Given the description of an element on the screen output the (x, y) to click on. 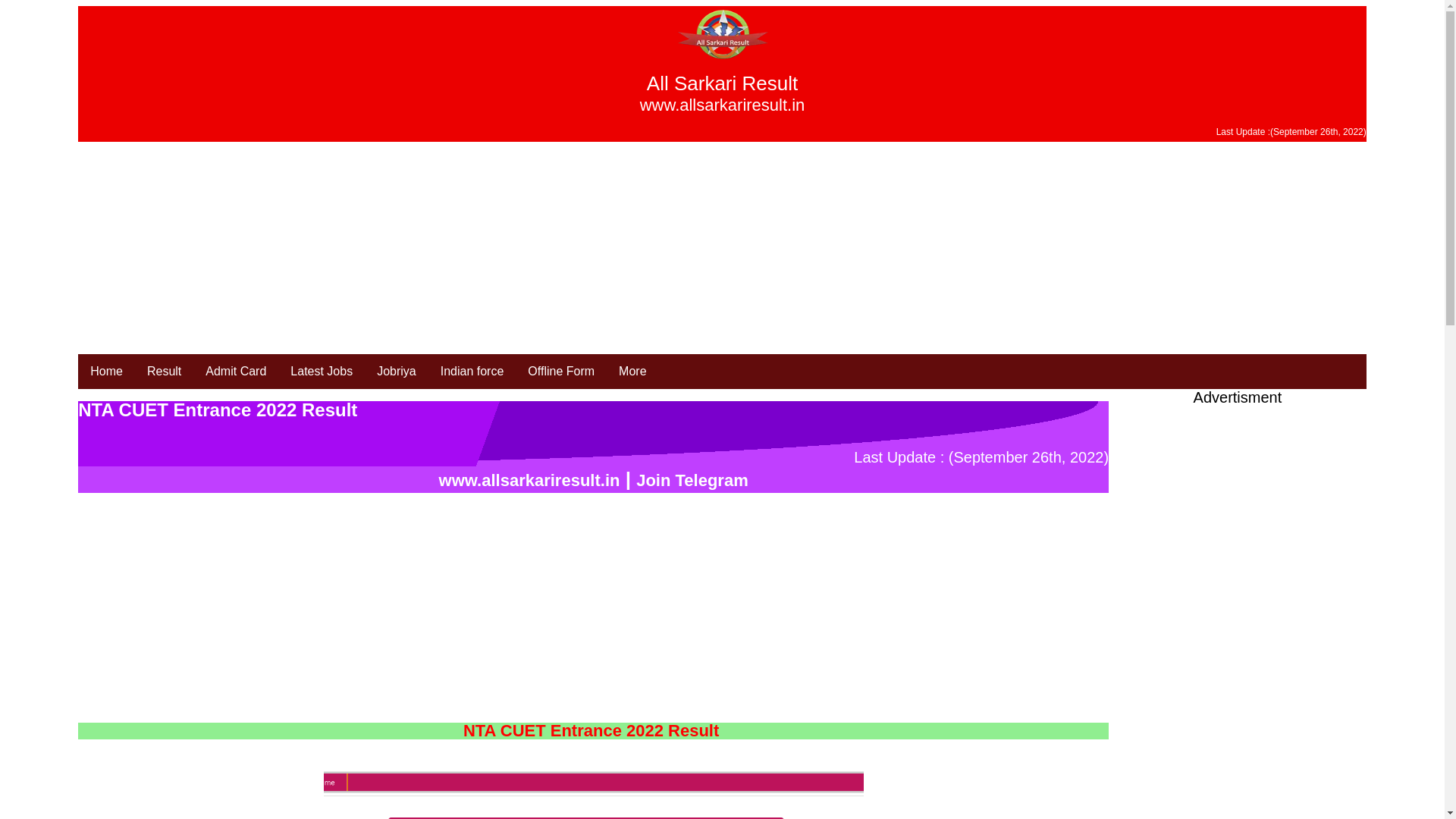
Join Telegram (692, 479)
Sarkari Result Logo (722, 33)
Admit Card (235, 371)
More (632, 371)
Advertisement (1238, 512)
Offline Form (561, 371)
Home (106, 371)
Result (164, 371)
Latest Jobs (321, 371)
www.allsarkariresult.in (529, 479)
SarkariResult (106, 371)
Jobriya (396, 371)
Indian force (472, 371)
